Given the description of an element on the screen output the (x, y) to click on. 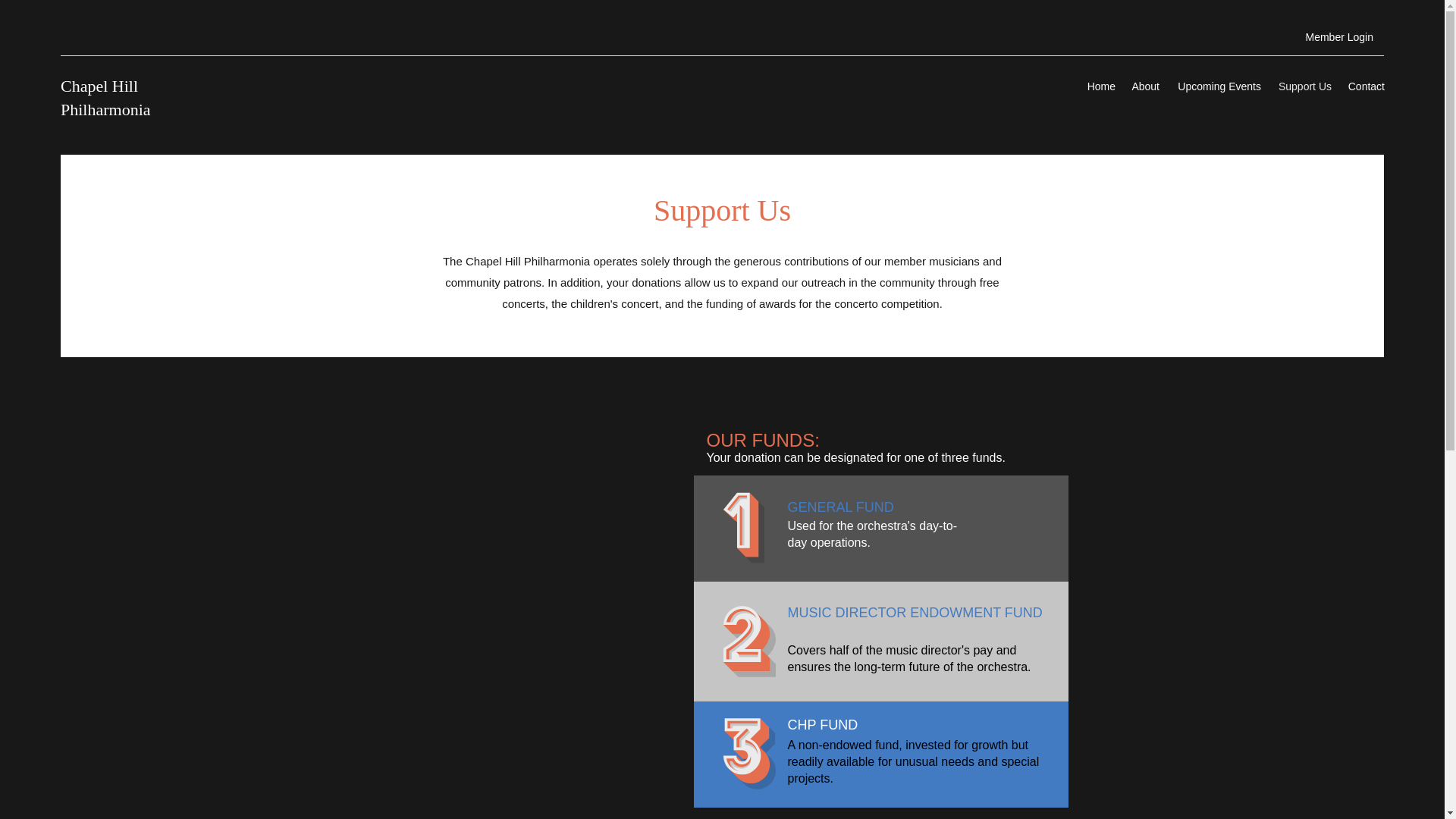
About (1144, 86)
Home (1100, 86)
Contact (1365, 86)
Member Login (1339, 37)
Chapel Hill Philharmonia (106, 97)
Upcoming Events (1217, 86)
Support Us (1303, 86)
